Given the description of an element on the screen output the (x, y) to click on. 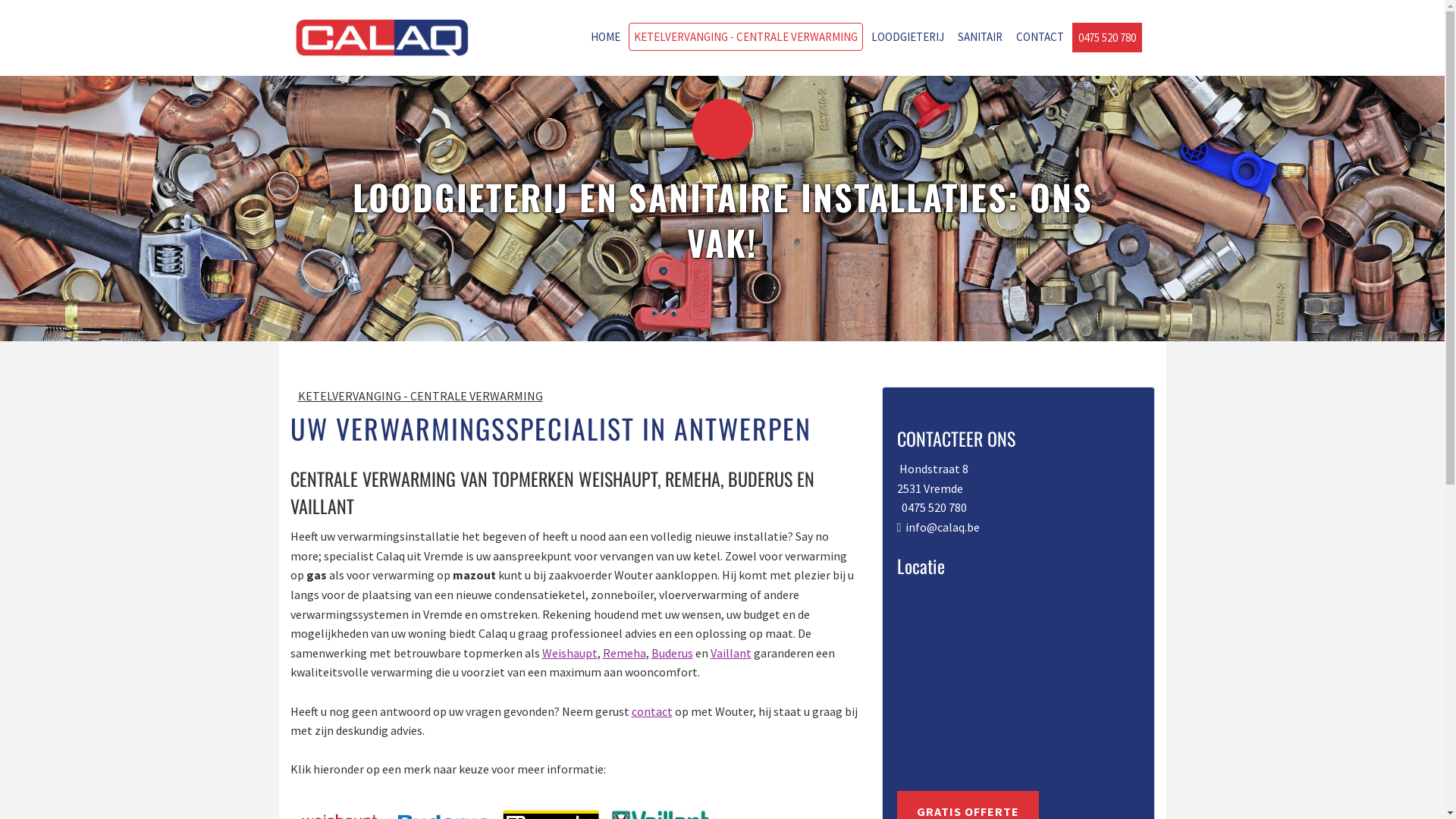
LOODGIETERIJ Element type: text (907, 36)
KETELVERVANGING - CENTRALE VERWARMING Element type: text (744, 36)
KETELVERVANGING - CENTRALE VERWARMING Element type: text (419, 395)
0475 520 780 Element type: text (1106, 37)
0475 520 780 Element type: text (933, 506)
Vaillant Element type: text (729, 652)
Hondstraat 8
2531 Vremde Element type: text (931, 478)
Buderus Element type: text (671, 652)
contact Element type: text (650, 710)
SANITAIR Element type: text (979, 36)
HOME Element type: text (605, 36)
Weishaupt Element type: text (568, 652)
Remeha Element type: text (623, 652)
info@calaq.be Element type: text (942, 526)
CONTACT Element type: text (1039, 36)
